Given the description of an element on the screen output the (x, y) to click on. 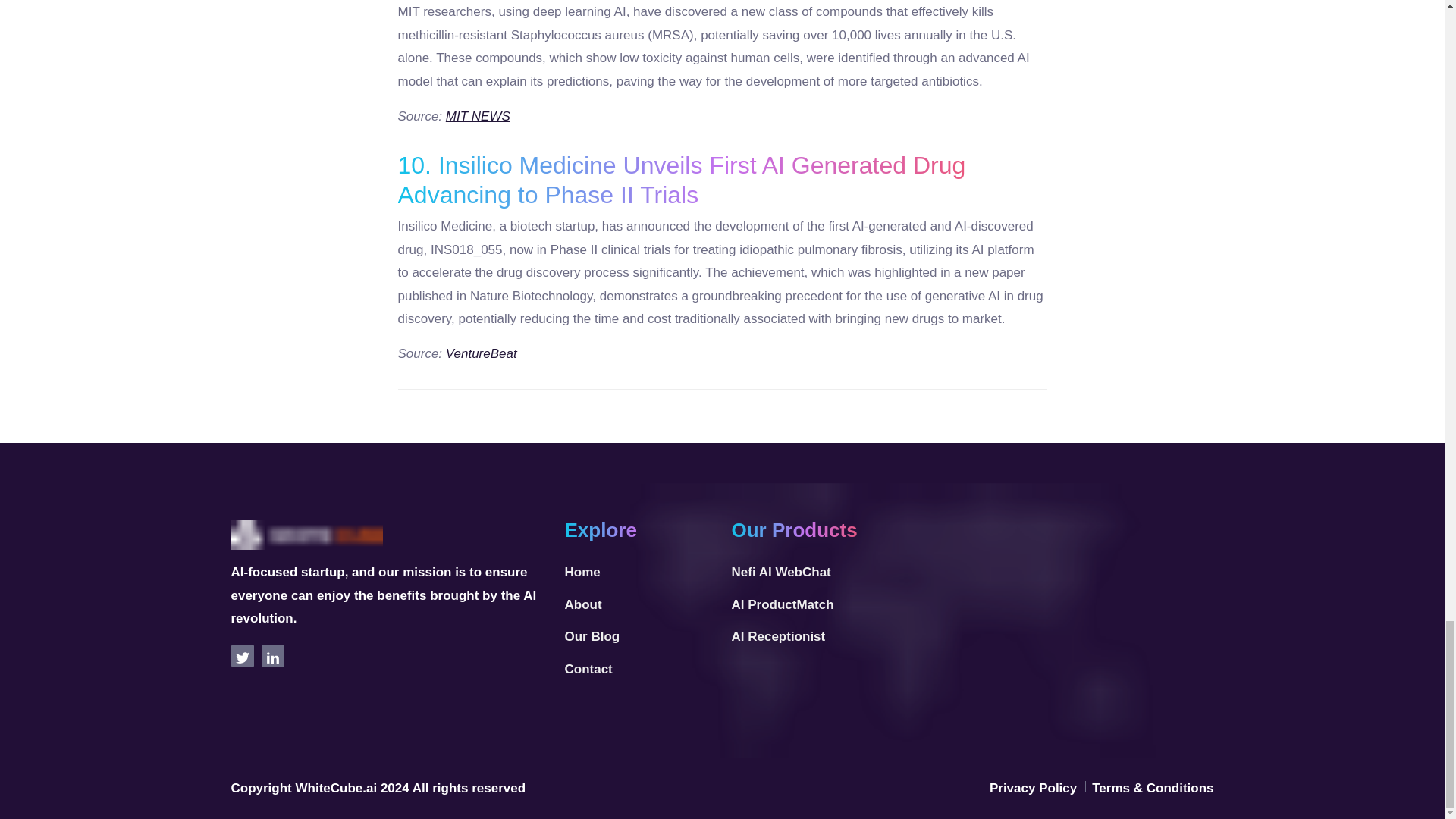
Home (581, 572)
About (582, 605)
Contact (587, 669)
MIT NEWS (478, 115)
Our Blog (592, 637)
VentureBeat (480, 353)
Twitter (241, 655)
LinkedIn (271, 655)
